Given the description of an element on the screen output the (x, y) to click on. 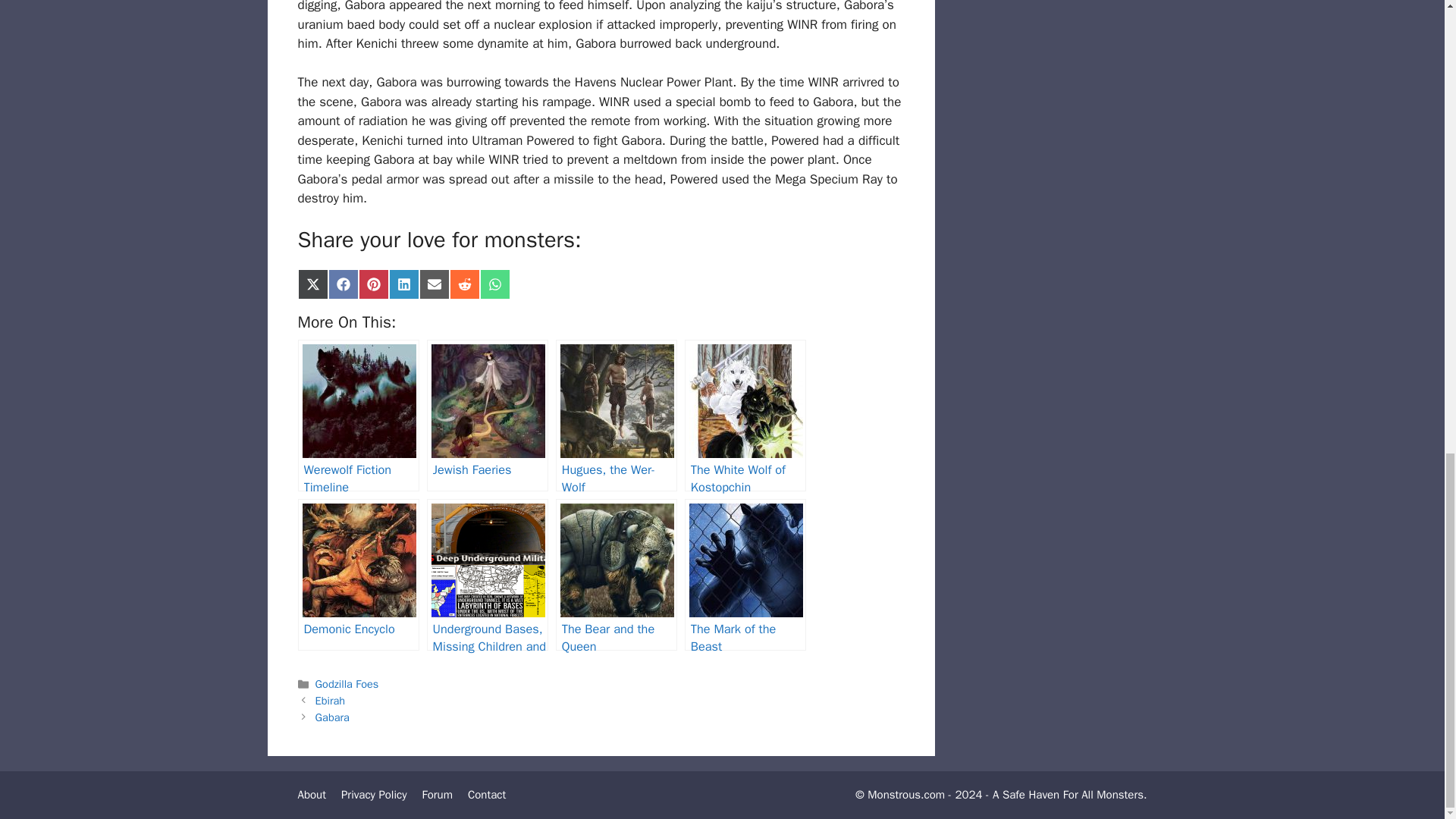
Share on Pinterest (373, 284)
Share on WhatsApp (494, 284)
Share on Reddit (463, 284)
Share on Facebook (342, 284)
Share on Email (433, 284)
Share on LinkedIn (403, 284)
